Given the description of an element on the screen output the (x, y) to click on. 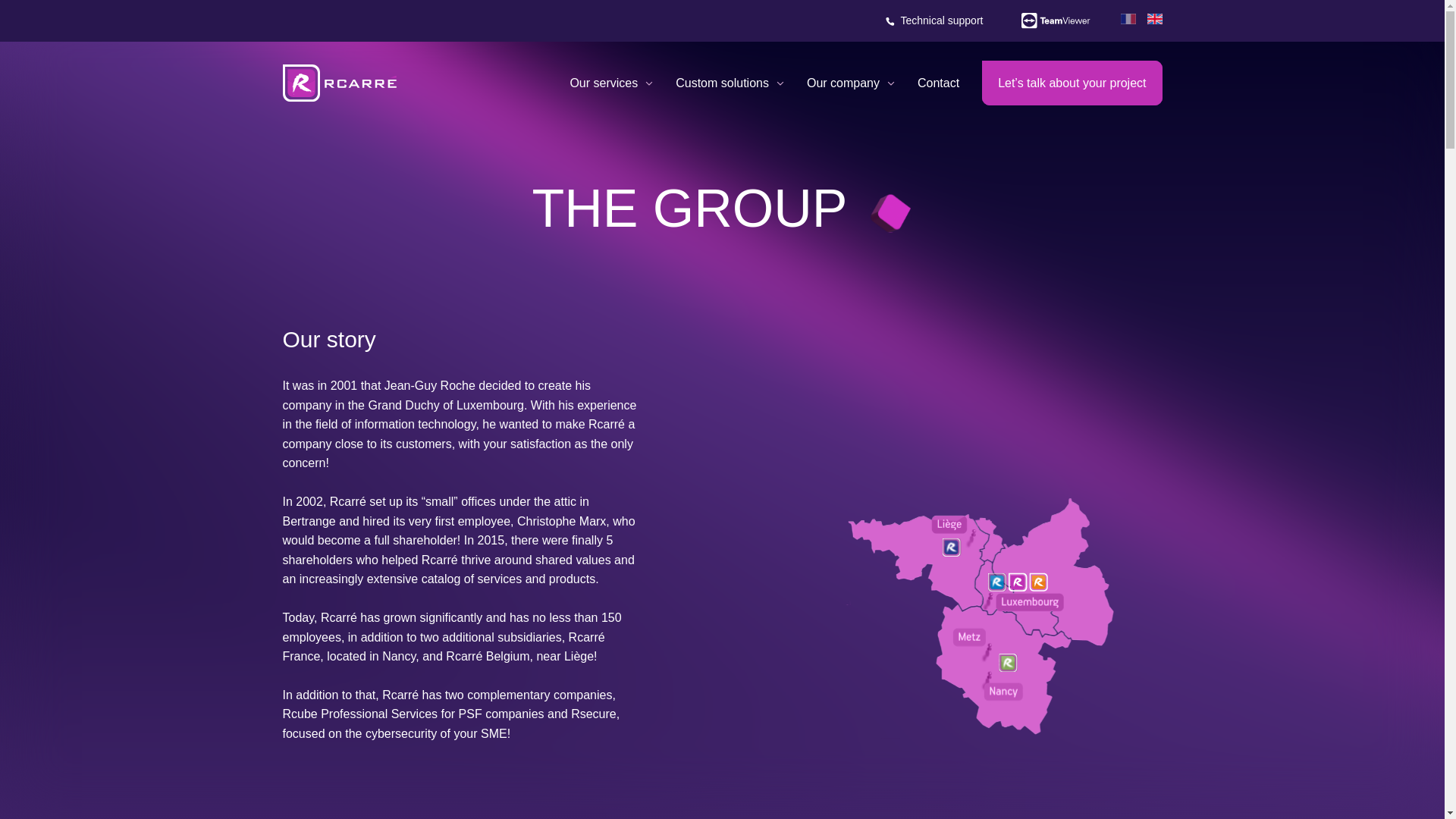
Technical support (935, 20)
Team viewer (1056, 21)
Custom solutions (729, 82)
Our company (850, 82)
Our services (610, 82)
Contact (938, 82)
